Given the description of an element on the screen output the (x, y) to click on. 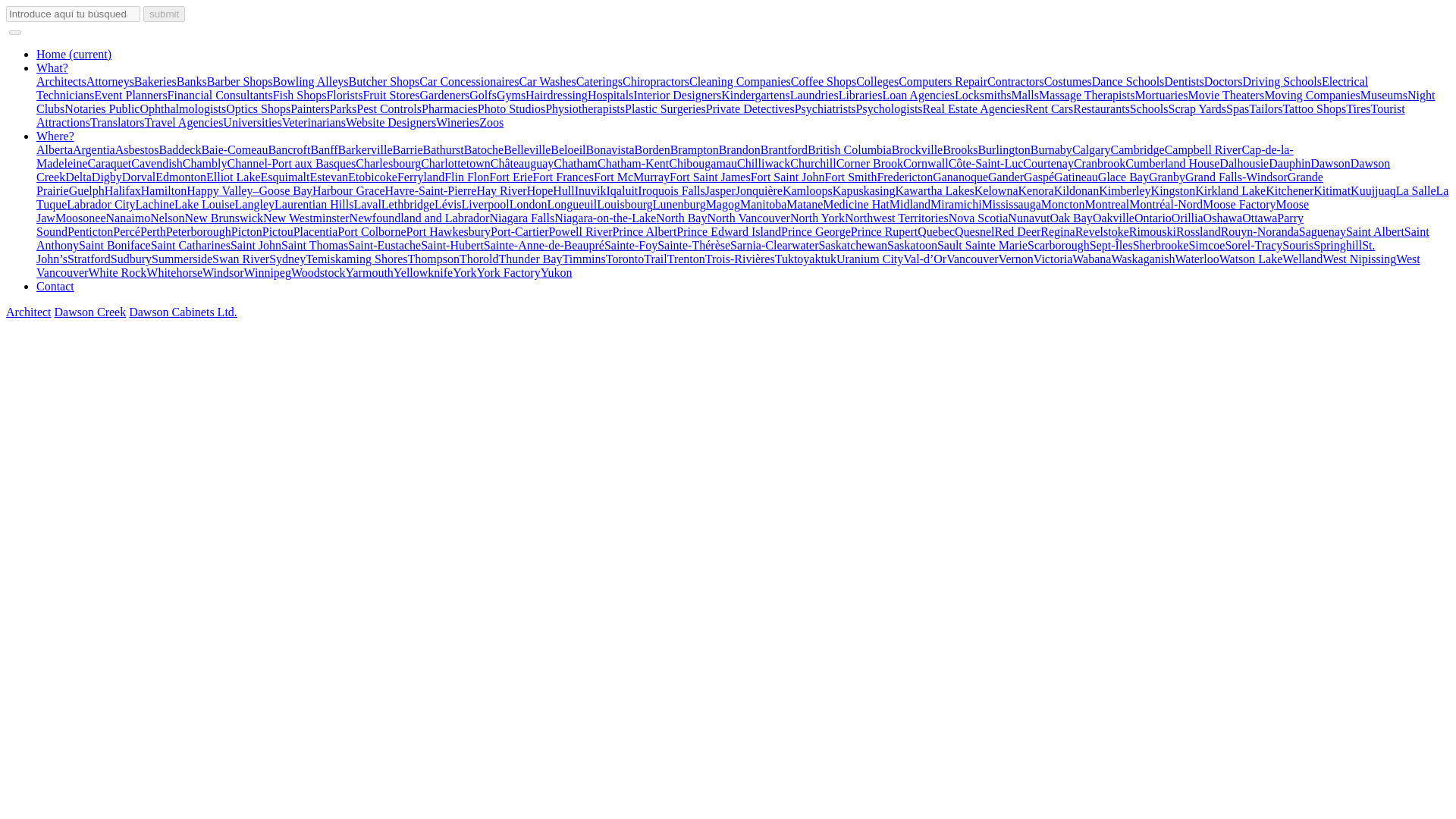
Costumes (1067, 81)
Cleaning Companies (739, 81)
Hospitals (610, 94)
Hairdressing (556, 94)
Bowling Alleys (311, 81)
Gyms (510, 94)
Banks (191, 81)
Fish Shops (299, 94)
Coffee Shops (823, 81)
Dance Schools (1128, 81)
